Given the description of an element on the screen output the (x, y) to click on. 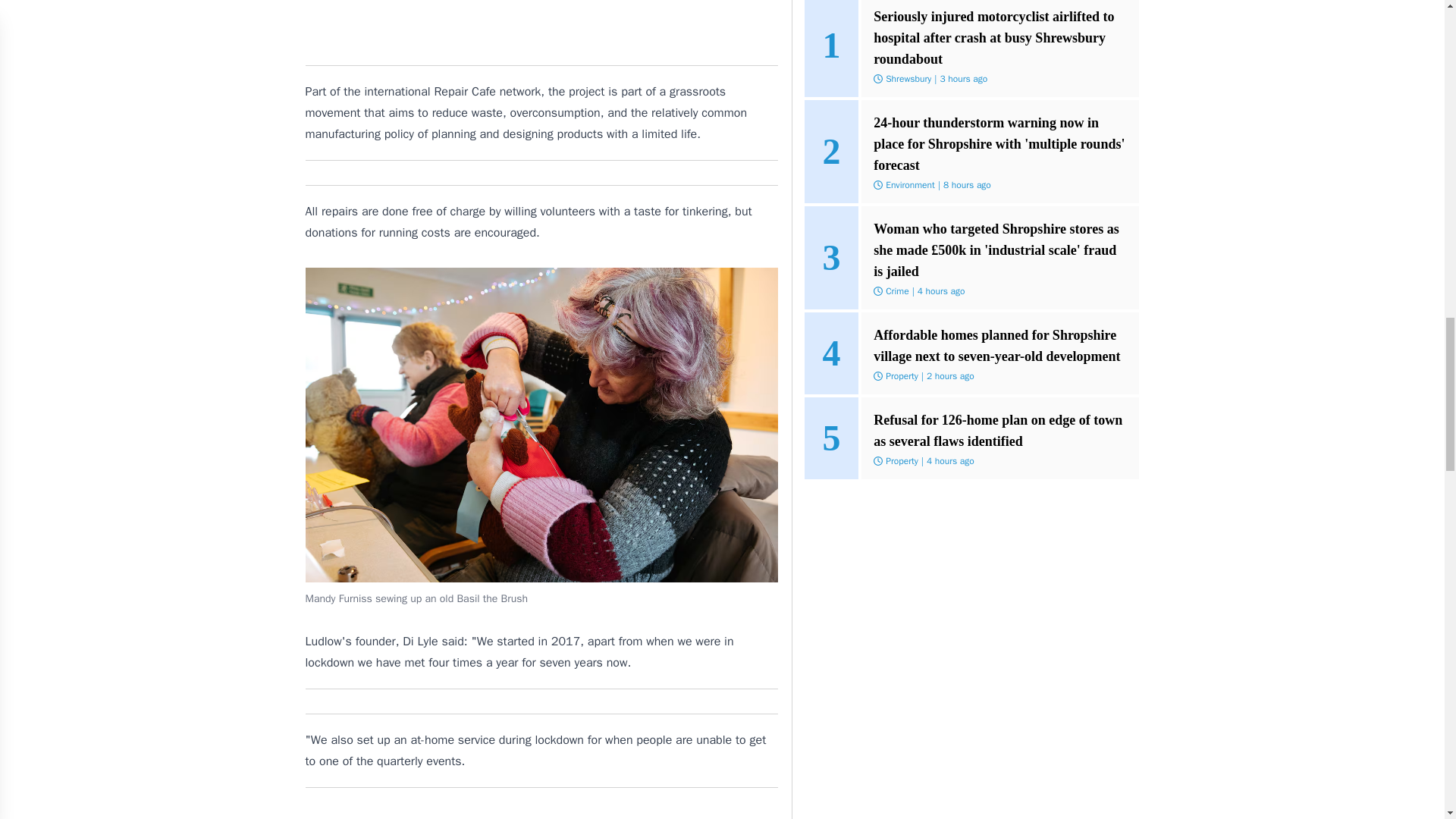
Environment (909, 184)
Crime (896, 291)
Property (901, 460)
Property (901, 376)
Shrewsbury (908, 78)
